Given the description of an element on the screen output the (x, y) to click on. 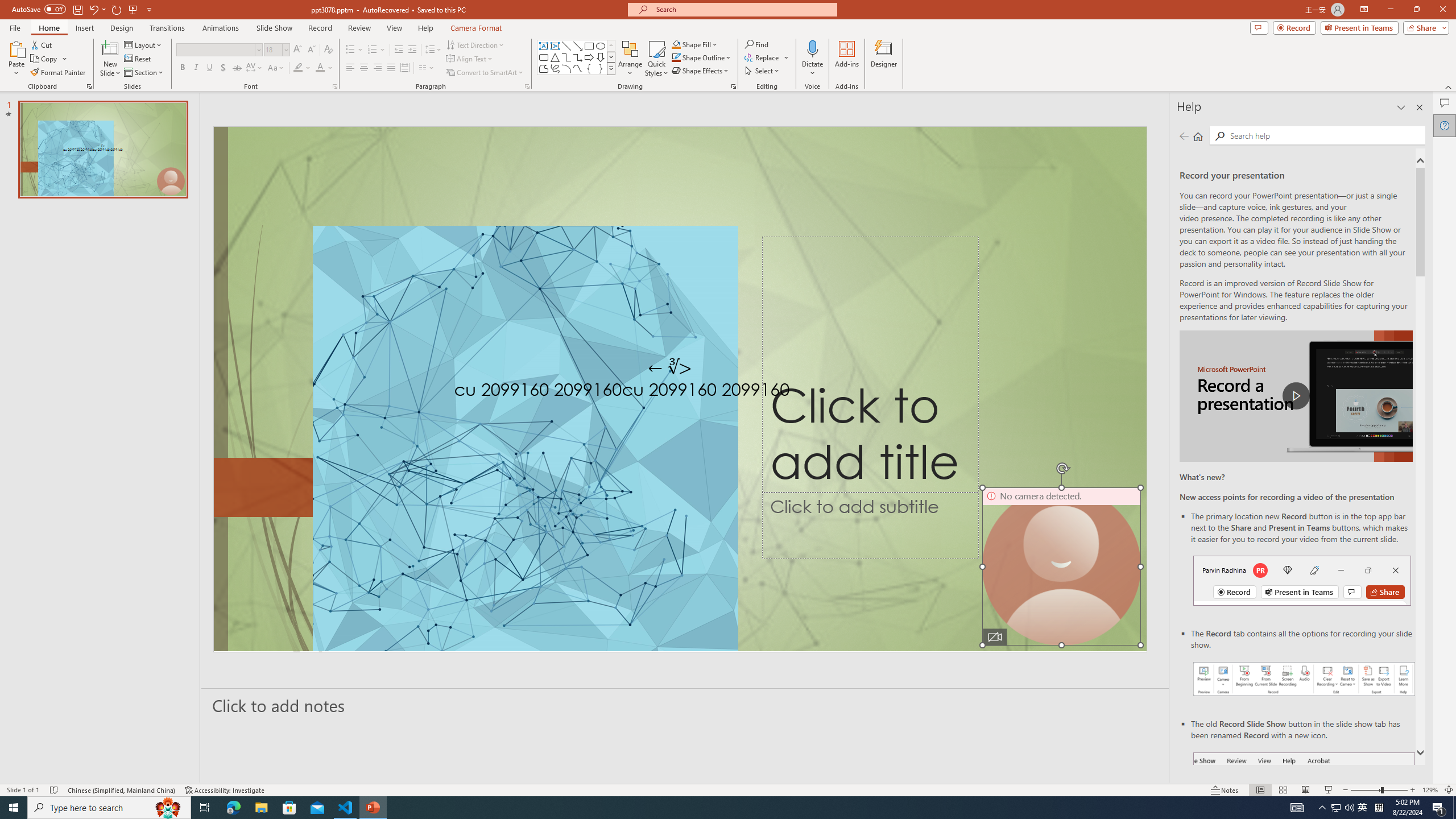
Close pane (1419, 107)
Save (77, 9)
Previous page (1183, 136)
Distributed (404, 67)
Line (566, 45)
Character Spacing (254, 67)
Row up (611, 45)
AutomationID: ShapesInsertGallery (576, 57)
Find... (756, 44)
Bullets (354, 49)
Insert (83, 28)
Vertical Text Box (554, 45)
